Given the description of an element on the screen output the (x, y) to click on. 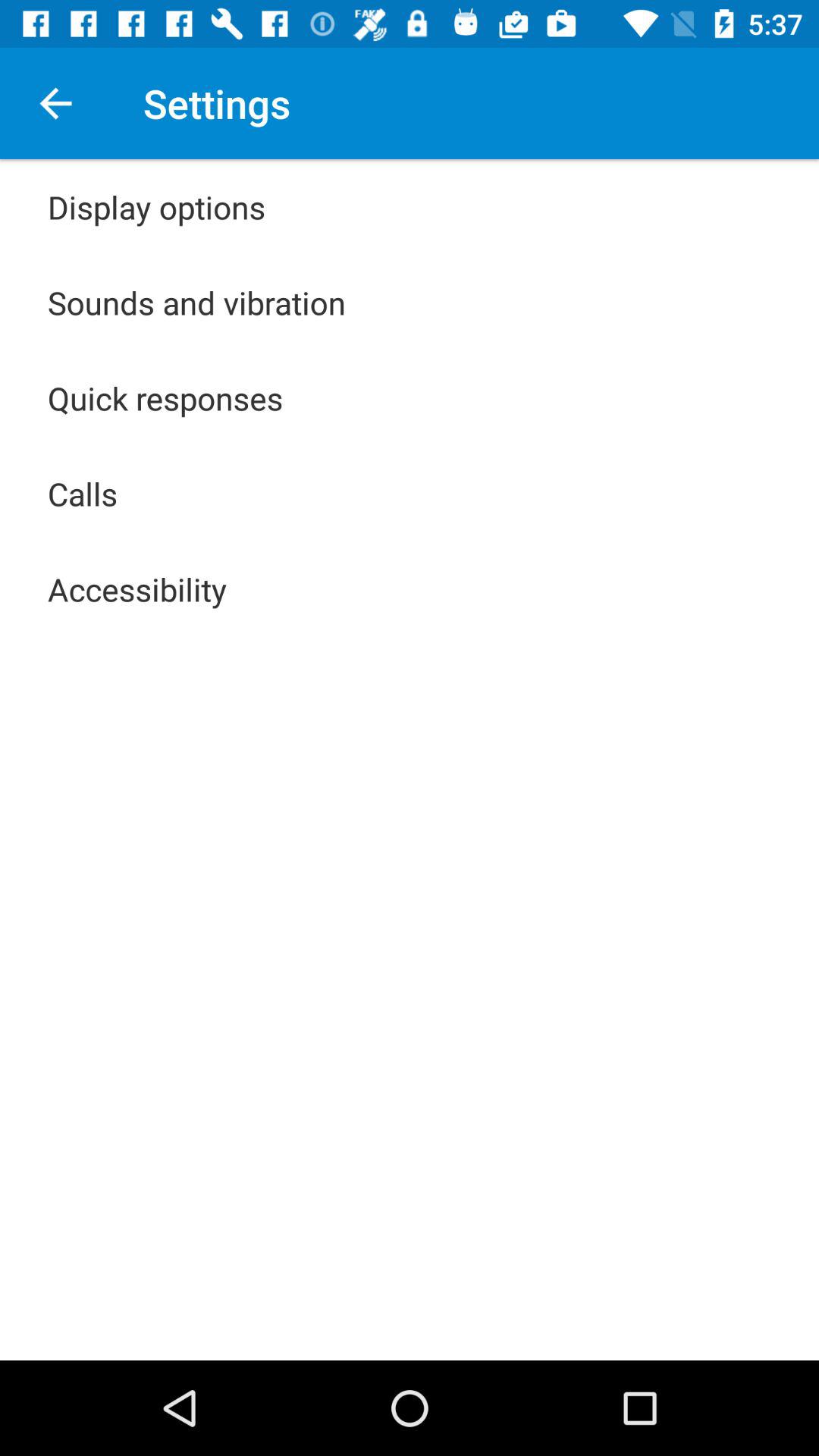
open the icon below quick responses icon (82, 493)
